Given the description of an element on the screen output the (x, y) to click on. 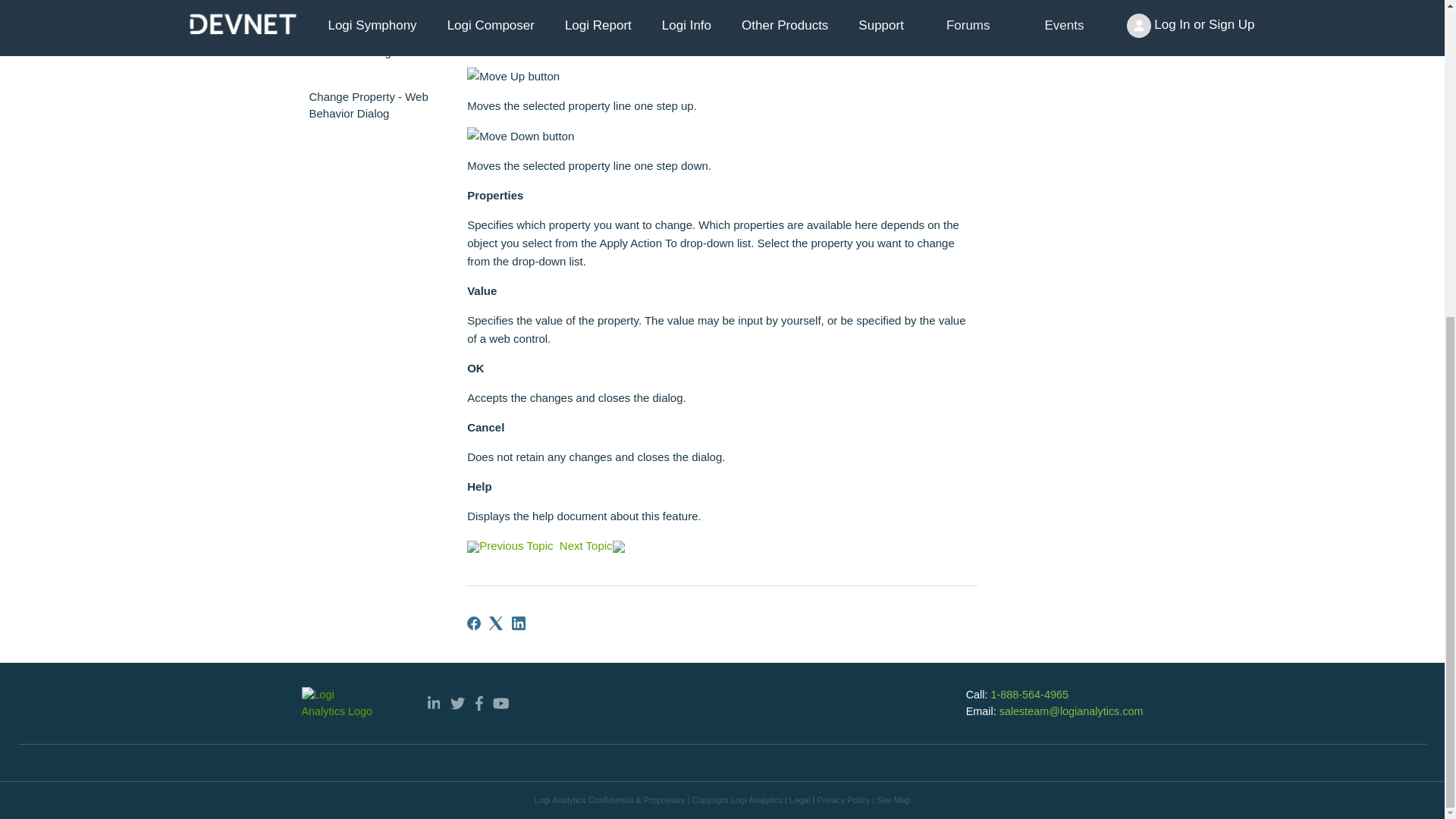
Find Logi Analytics on YouTube (501, 703)
Change Property - Web Behavior Dialog (373, 105)
Find Logi Analytics on Twitter (456, 703)
